Given the description of an element on the screen output the (x, y) to click on. 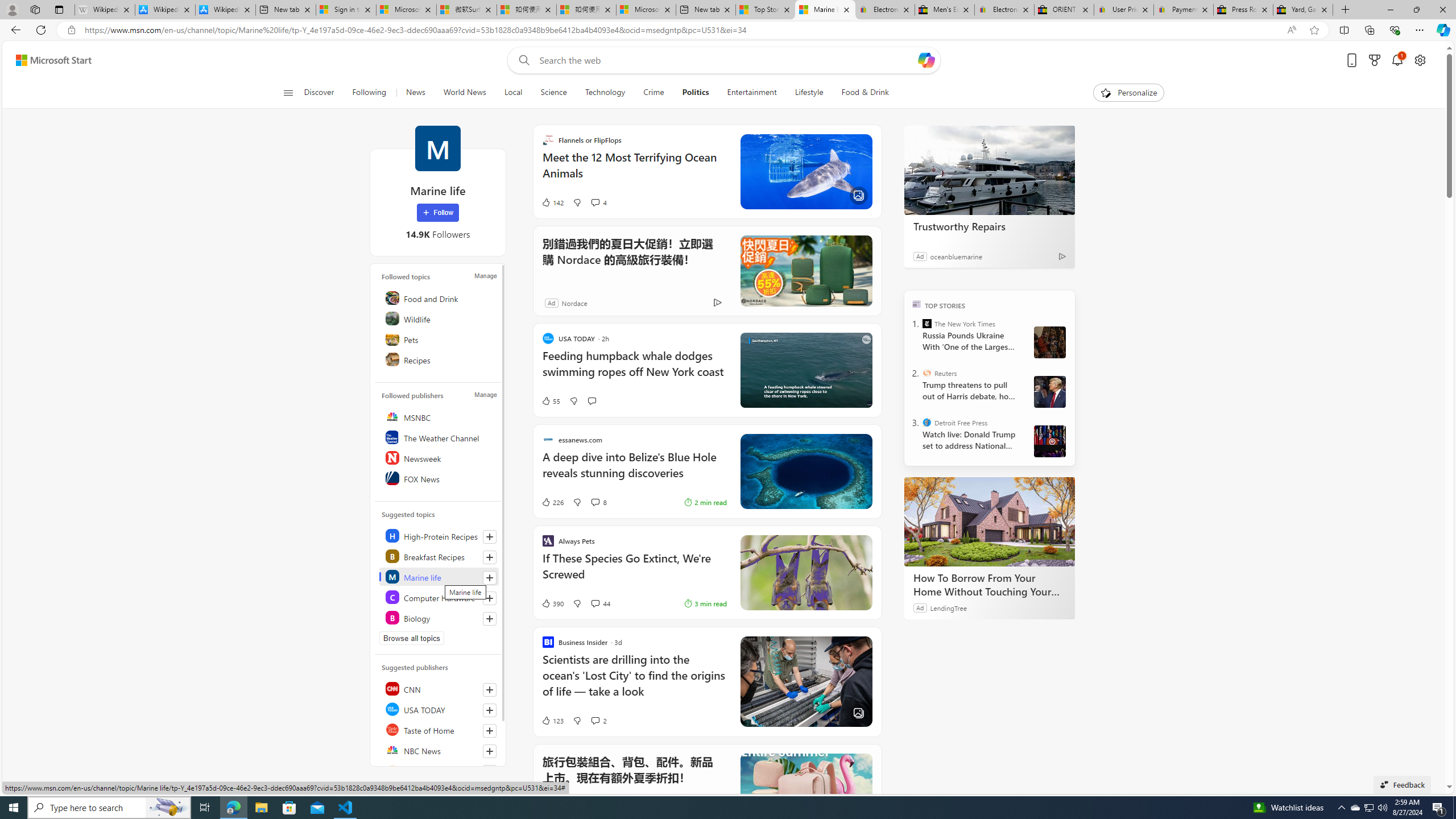
Recipes (439, 359)
Reuters (439, 770)
